Given the description of an element on the screen output the (x, y) to click on. 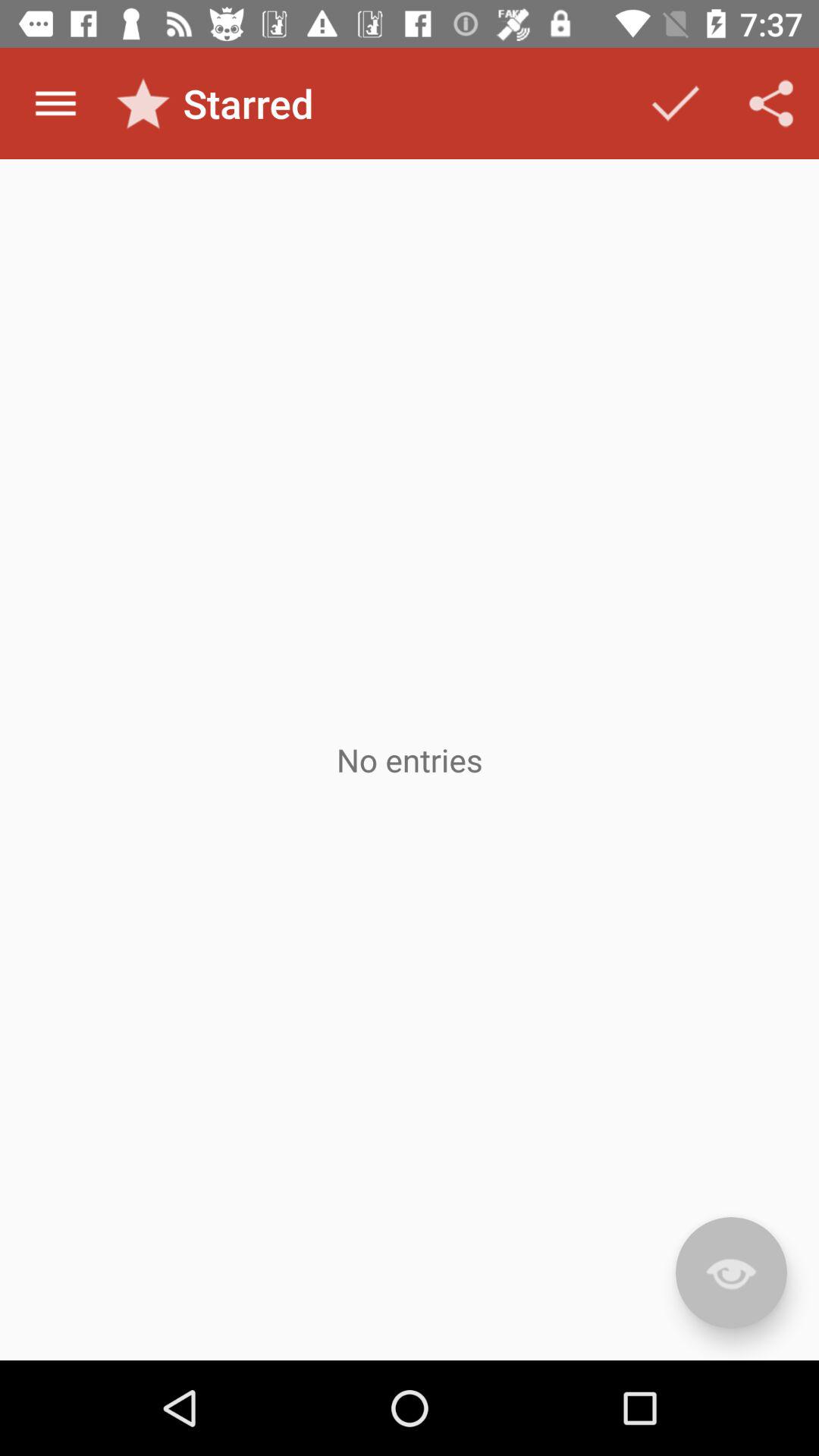
press item above no entries icon (771, 103)
